Given the description of an element on the screen output the (x, y) to click on. 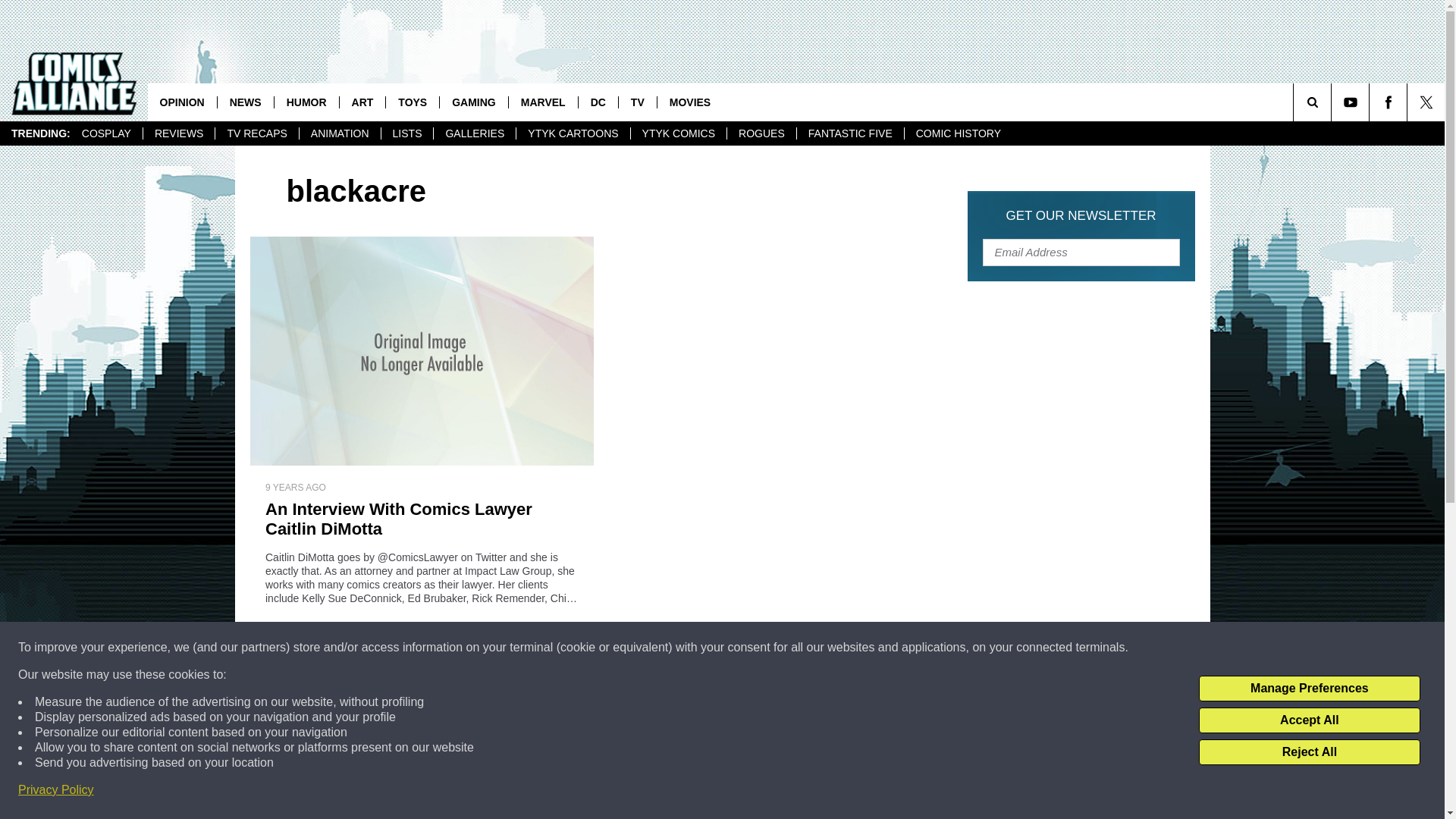
Visit us on Facebook (1388, 102)
Privacy Policy (55, 789)
HUMOR (306, 102)
An Interview With Comics Lawyer Caitlin DiMotta (421, 518)
TV (636, 102)
FANTASTIC FIVE (850, 133)
TV RECAPS (256, 133)
TOYS (412, 102)
COSPLAY (105, 133)
SEARCH (1333, 102)
Manage Preferences (1309, 688)
NEWS (244, 102)
SEARCH (1333, 102)
Email Address (1080, 251)
YTYK COMICS (678, 133)
